Given the description of an element on the screen output the (x, y) to click on. 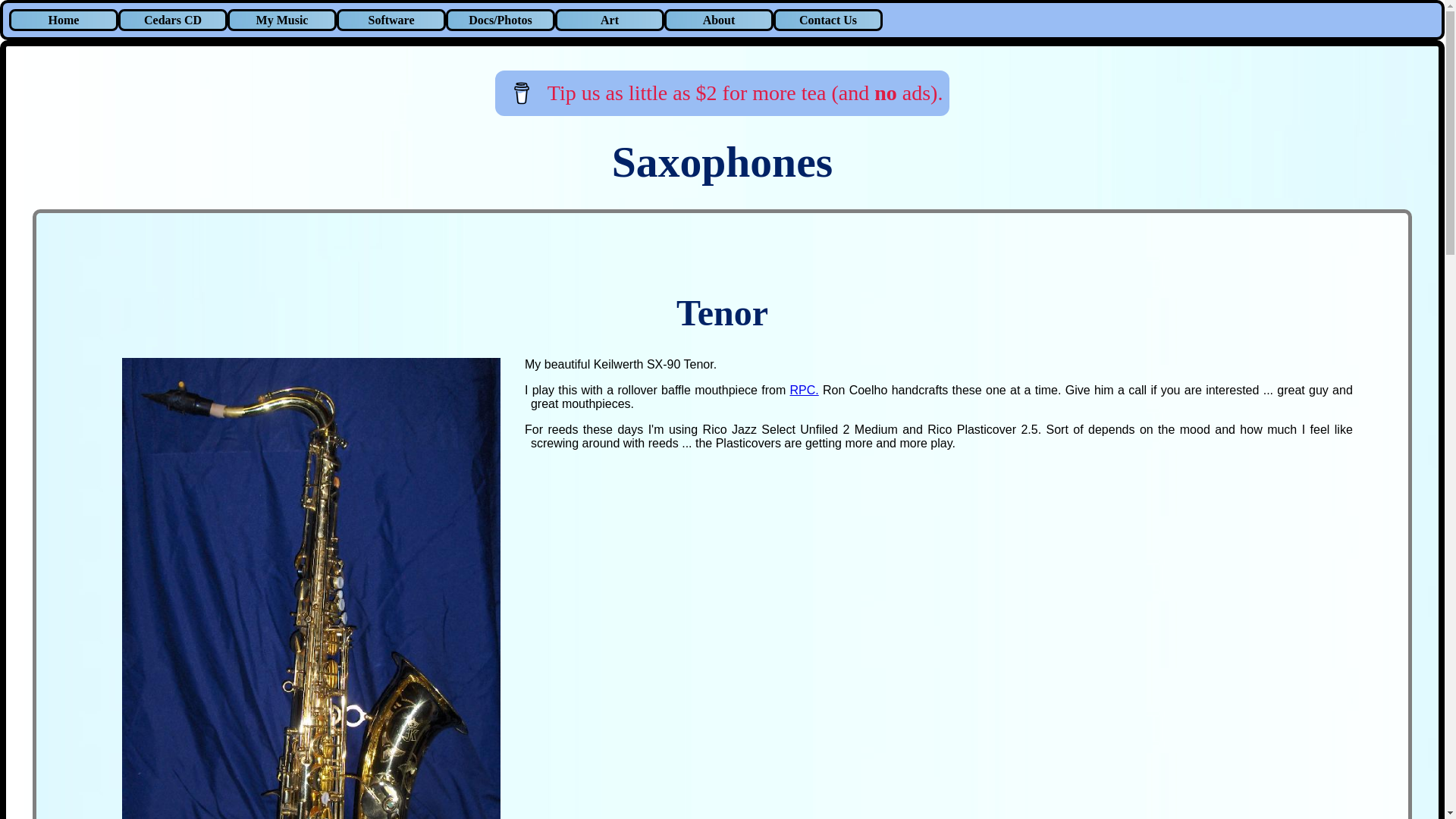
Art (608, 20)
Software (390, 20)
Cedars CD (172, 20)
Home (62, 20)
Contact Us (827, 20)
My Music (281, 20)
RPC. (804, 390)
About (718, 20)
